Given the description of an element on the screen output the (x, y) to click on. 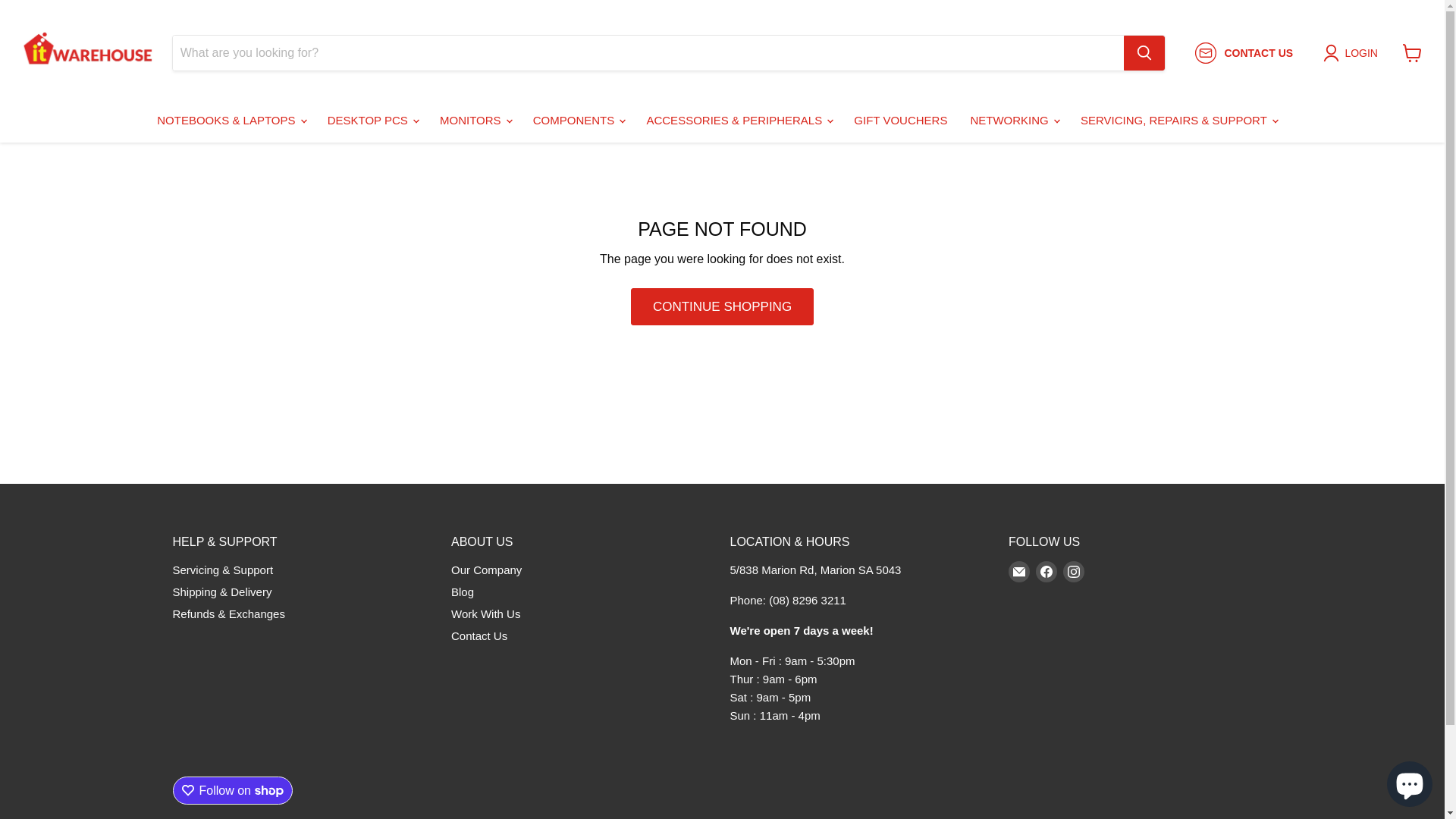
Our Company Element type: text (486, 569)
CONTINUE SHOPPING Element type: text (721, 307)
Blog Element type: text (462, 591)
Find us on Instagram Element type: text (1073, 571)
Shopify online store chat Element type: hover (1409, 780)
GIFT VOUCHERS Element type: text (900, 120)
Work With Us Element type: text (485, 613)
CONTACT US Element type: text (1243, 52)
LOGIN Element type: text (1353, 52)
Email IT Warehouse Element type: text (1018, 571)
Contact Us Element type: text (479, 635)
Find us on Facebook Element type: text (1046, 571)
Refunds & Exchanges Element type: text (228, 613)
View cart Element type: text (1412, 52)
Servicing & Support Element type: text (222, 569)
Shipping & Delivery Element type: text (222, 591)
